Given the description of an element on the screen output the (x, y) to click on. 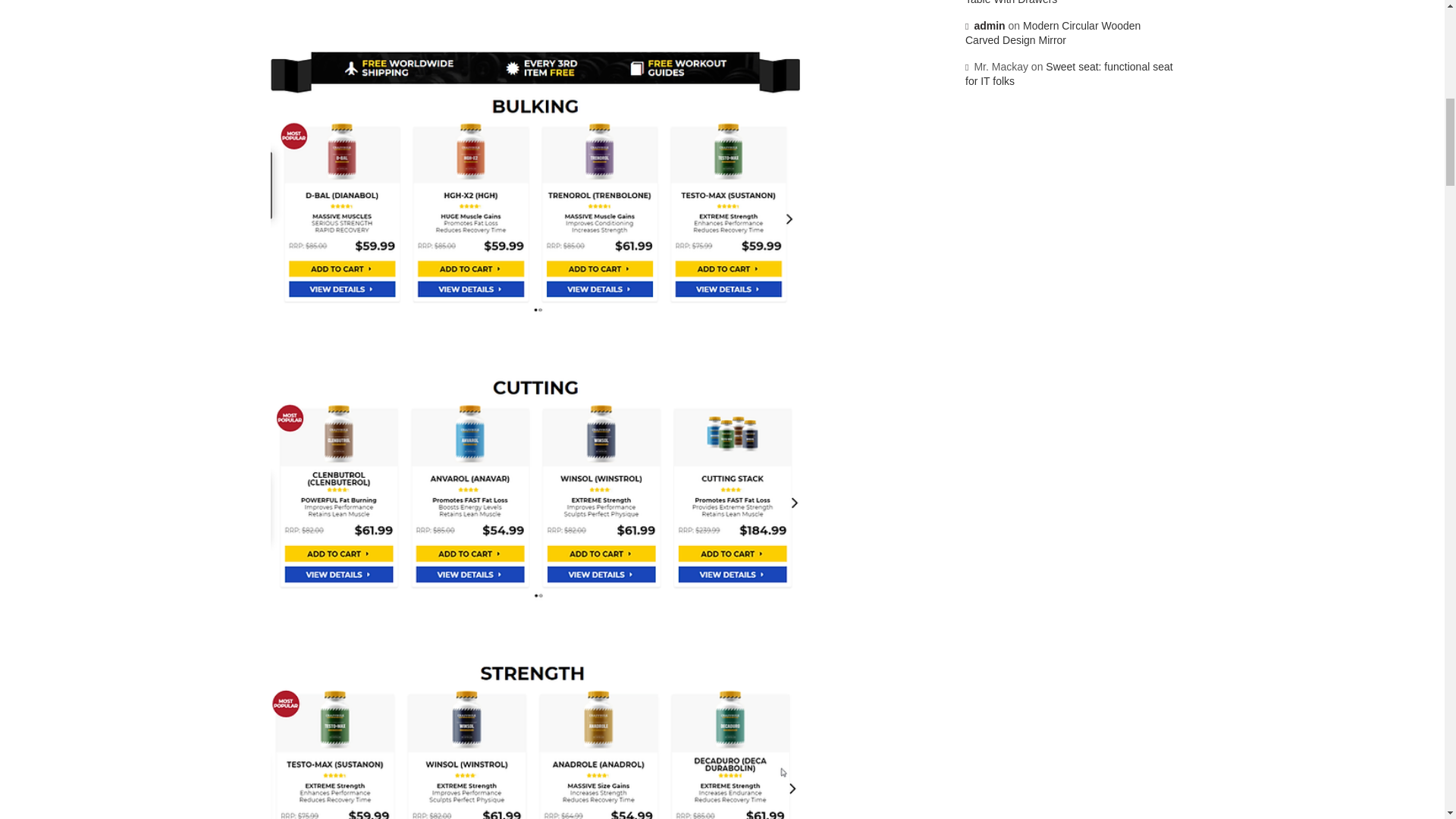
effects steroids on anabolic pregnancy (534, 485)
steroids effects pregnancy on anabolic (534, 736)
